Given the description of an element on the screen output the (x, y) to click on. 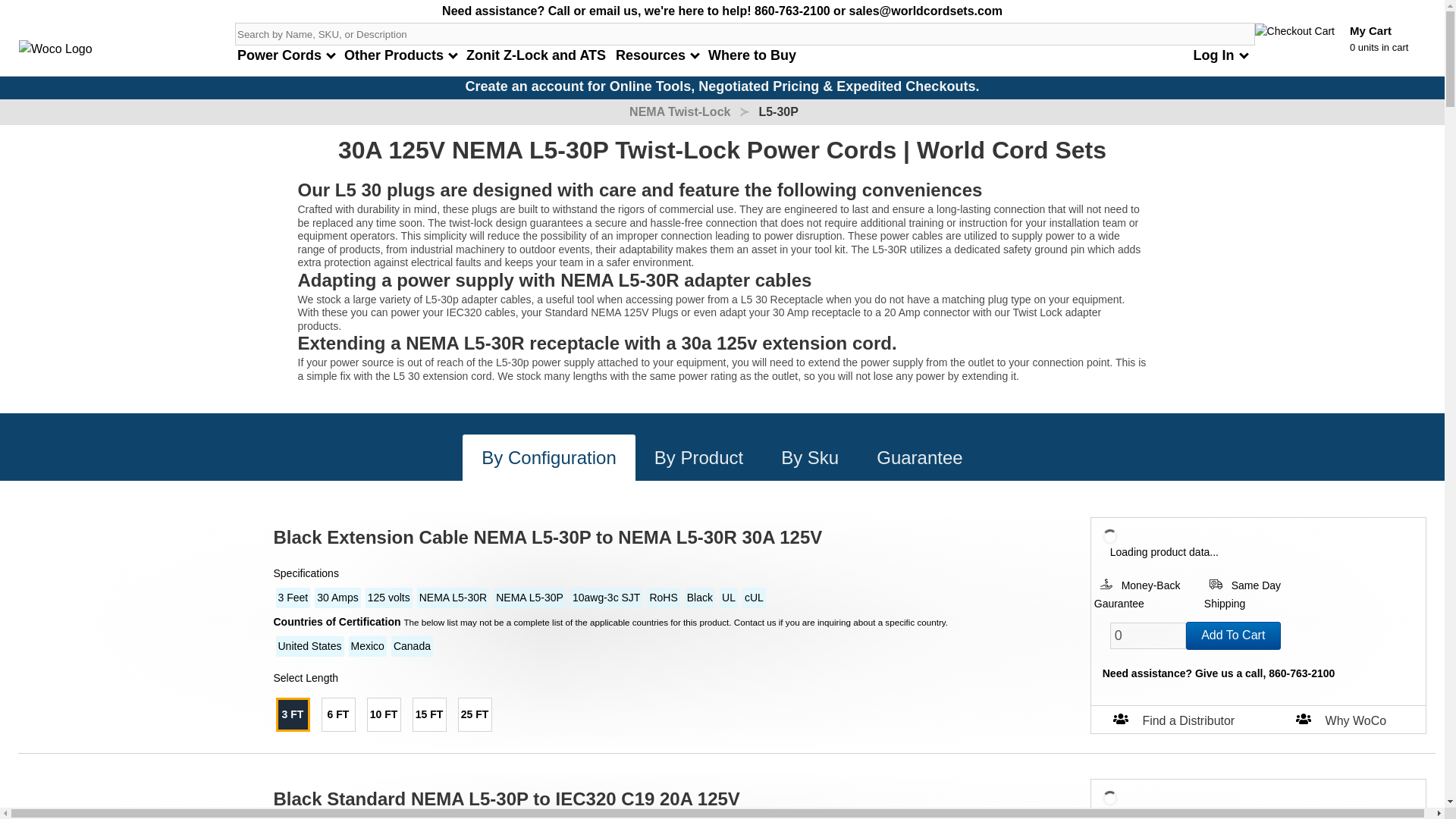
0 (1147, 635)
